Given the description of an element on the screen output the (x, y) to click on. 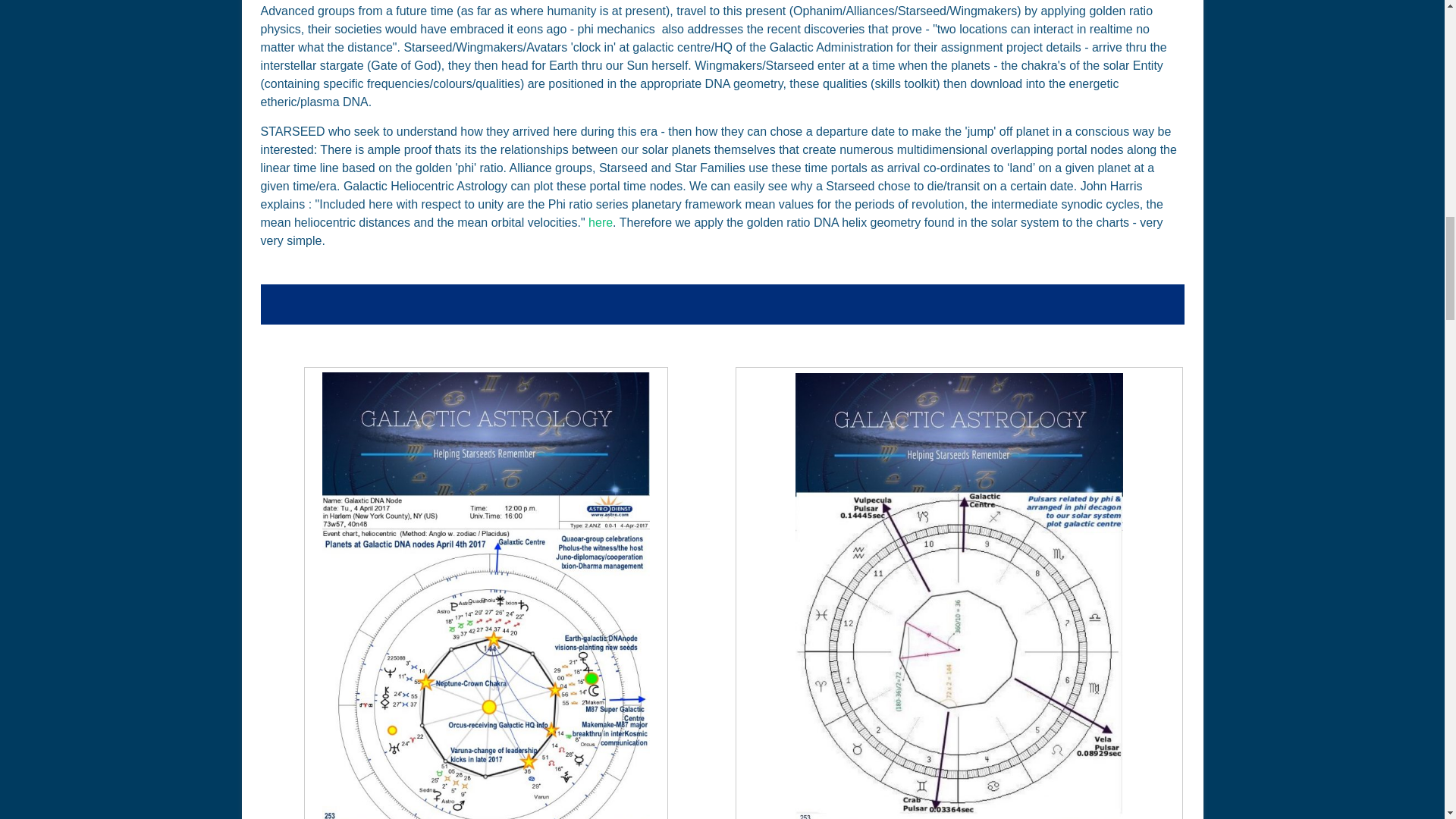
here (600, 222)
